Given the description of an element on the screen output the (x, y) to click on. 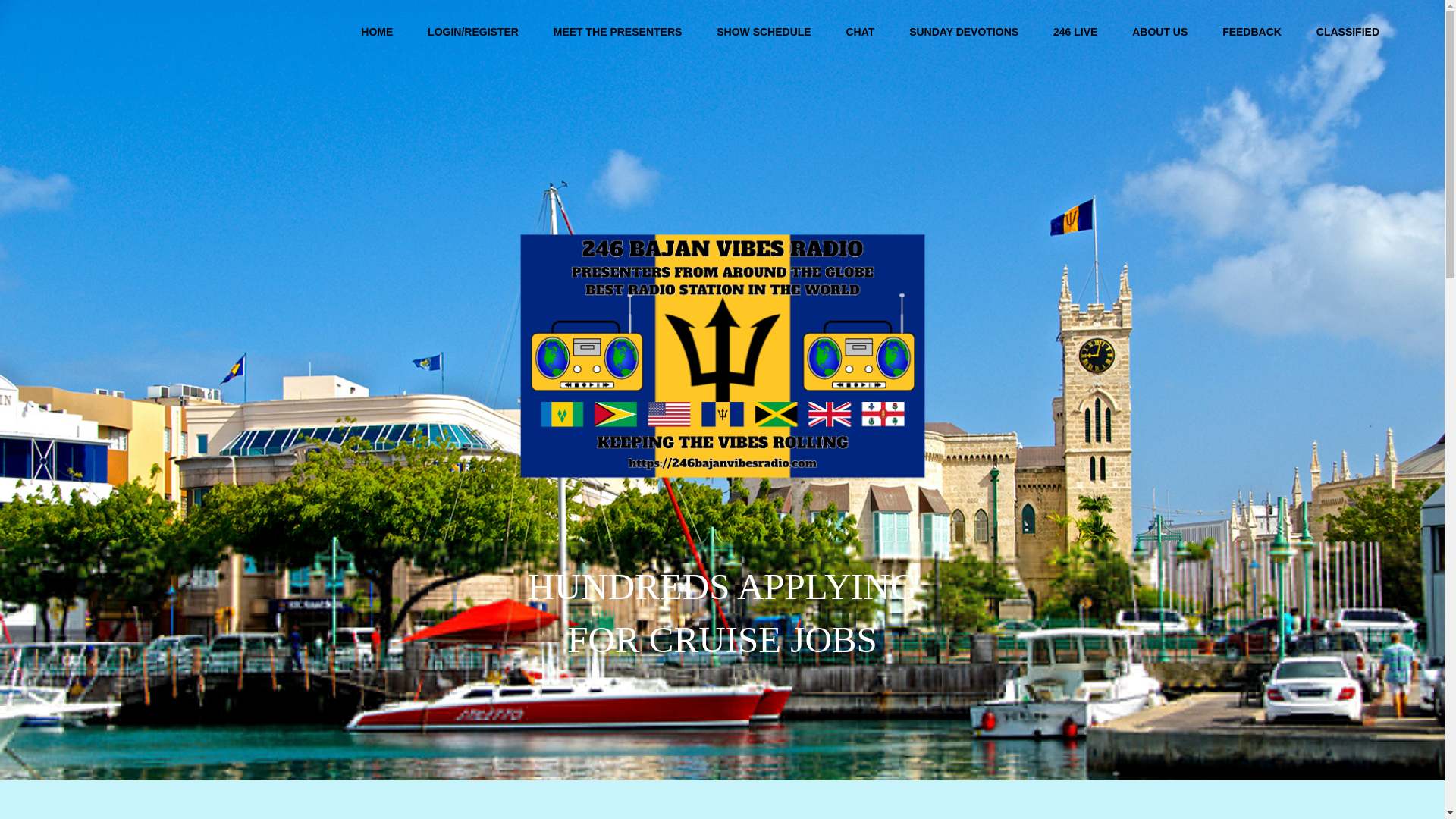
Search (1408, 31)
FEEDBACK (1252, 31)
SUNDAY DEVOTIONS (963, 31)
246 BAJAN VIBES RADIO (153, 42)
HOME (376, 31)
MEET THE PRESENTERS (617, 31)
ABOUT US (1159, 31)
246 LIVE (1075, 31)
CLASSIFIED (1347, 31)
CHAT (859, 31)
